Given the description of an element on the screen output the (x, y) to click on. 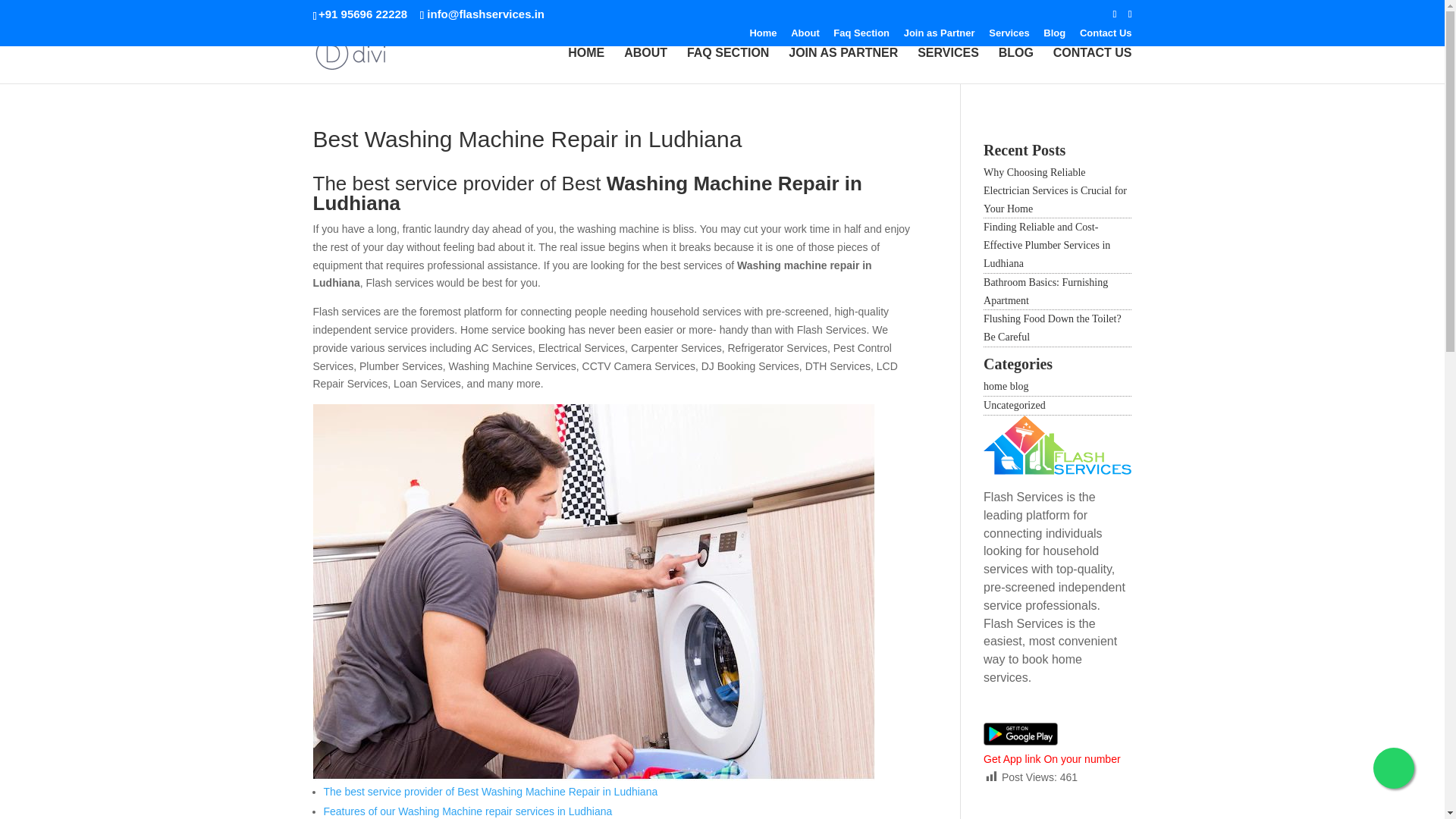
ABOUT (645, 65)
Faq Section (860, 36)
Contact Us (1106, 36)
Home (762, 36)
Services (1008, 36)
Join as Partner (939, 36)
About (804, 36)
CONTACT US (1092, 65)
HOME (585, 65)
Features of our Washing Machine repair services in Ludhiana (467, 811)
